Given the description of an element on the screen output the (x, y) to click on. 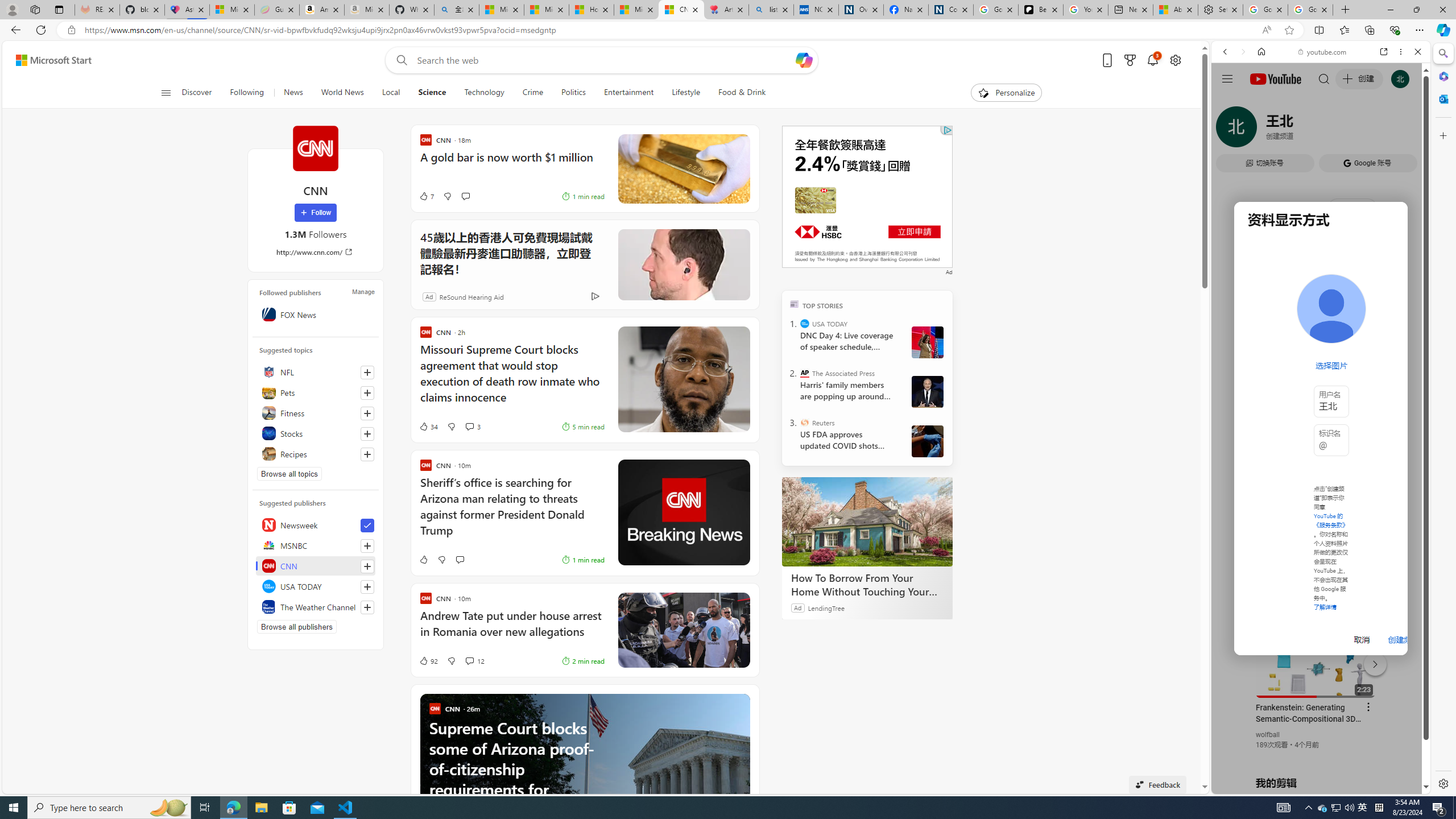
Politics (573, 92)
Arthritis: Ask Health Professionals (726, 9)
Technology (483, 92)
Crime (532, 92)
This site scope (1259, 102)
Search Filter, WEB (1230, 129)
Unfollow this source (367, 525)
Reuters (804, 422)
Feedback (1157, 784)
Browse all publishers (296, 626)
News (292, 92)
